Given the description of an element on the screen output the (x, y) to click on. 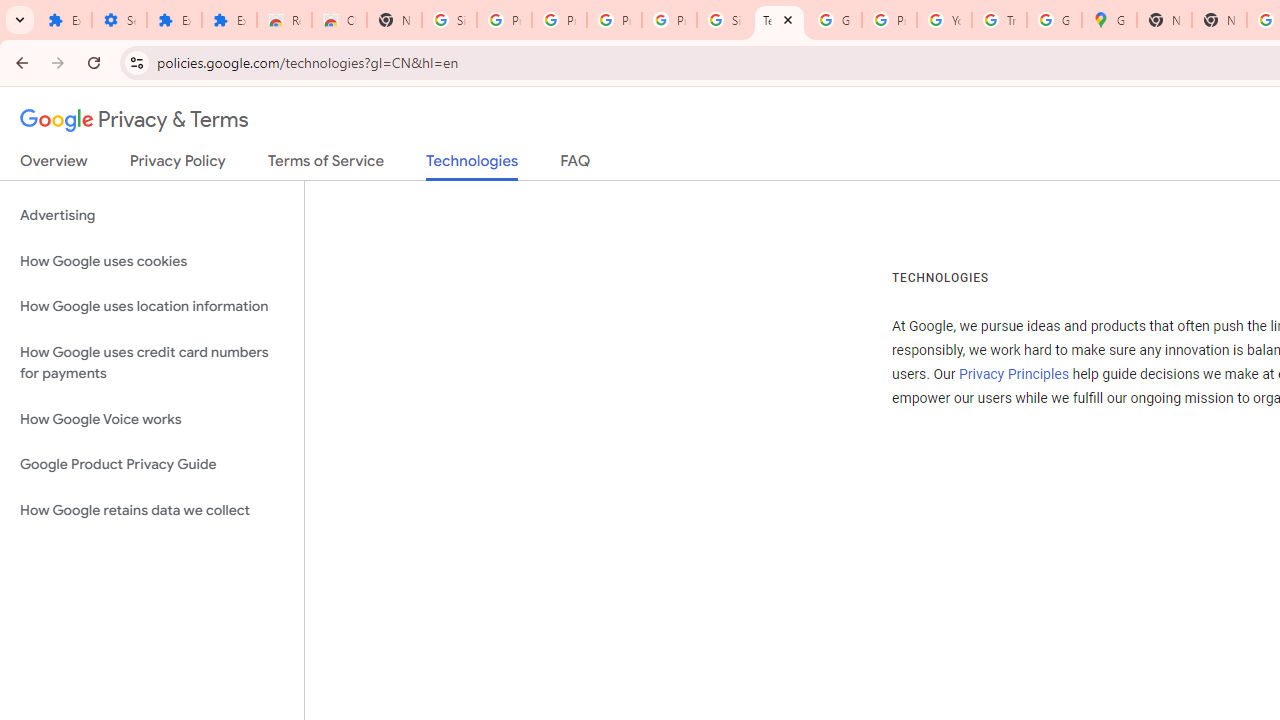
Settings (119, 20)
Extensions (229, 20)
How Google uses cookies (152, 261)
How Google Voice works (152, 419)
New Tab (1163, 20)
